Given the description of an element on the screen output the (x, y) to click on. 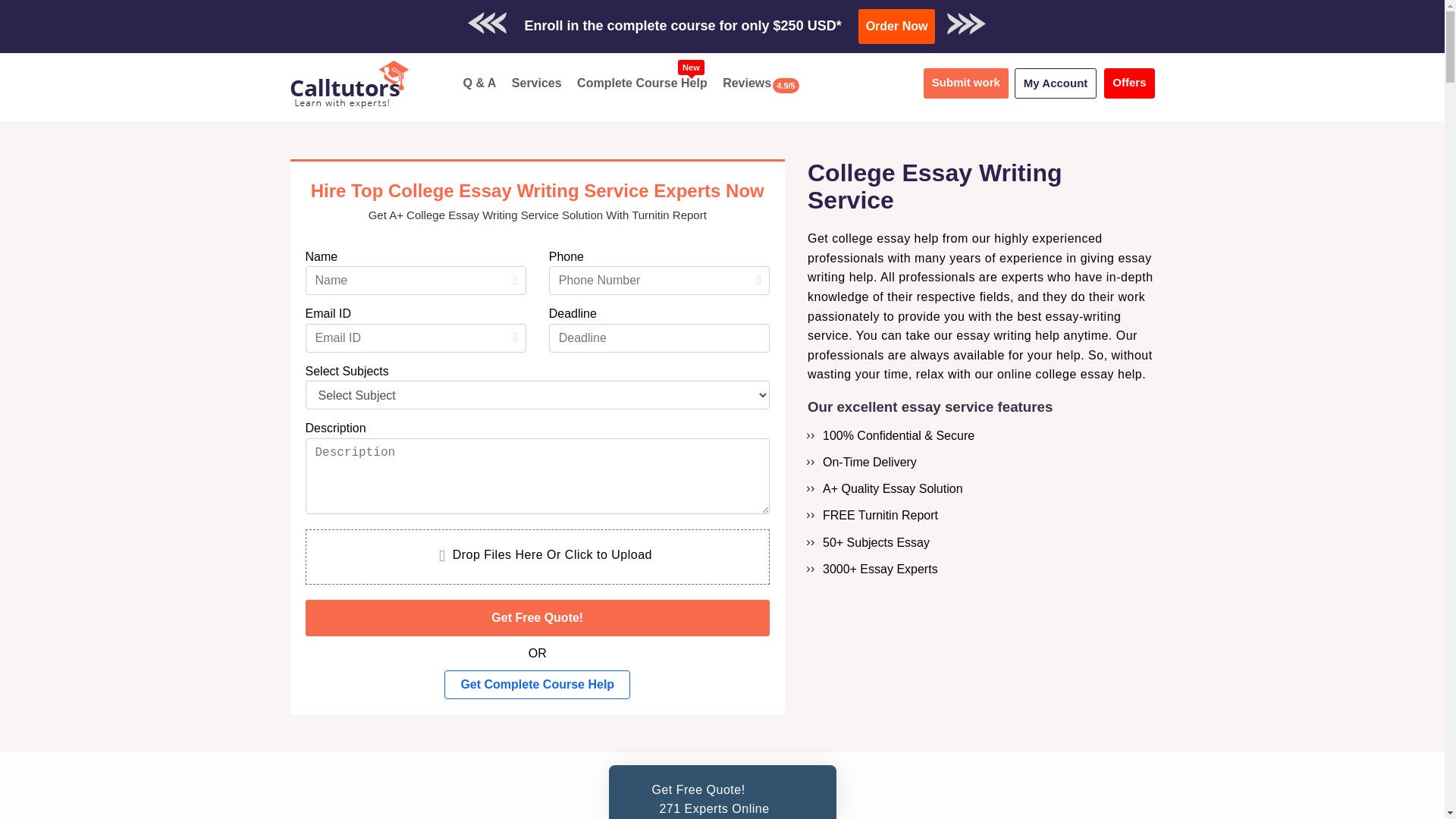
My Account (1055, 82)
Submit work (966, 82)
Submit Work (773, 19)
Order Now (641, 82)
Get Complete Course Help (897, 26)
Offers (537, 684)
Download Sample (1128, 82)
Services (901, 18)
Get Free Quote! (537, 82)
